Given the description of an element on the screen output the (x, y) to click on. 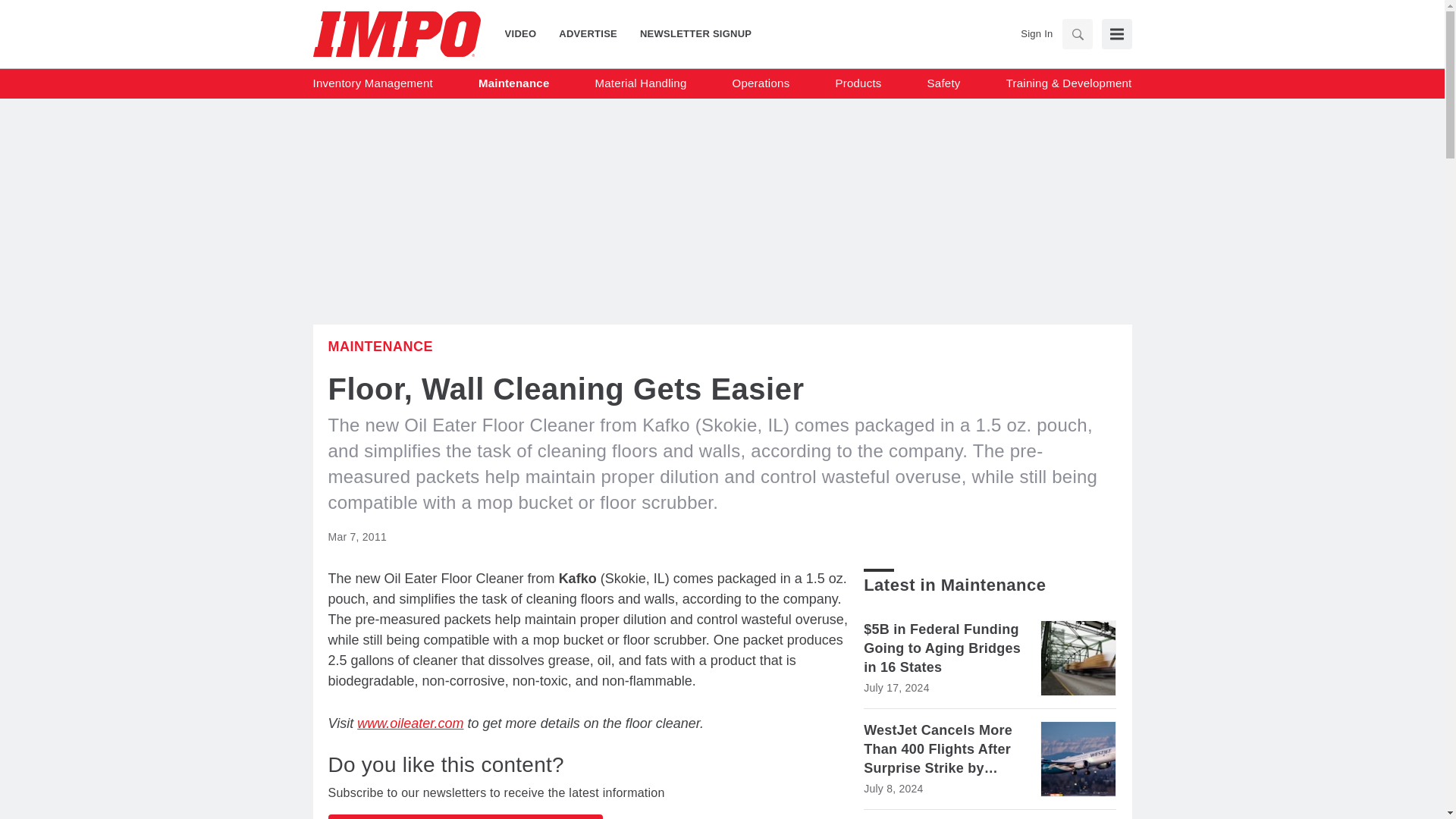
Maintenance (379, 346)
ADVERTISE (587, 33)
VIDEO (526, 33)
Inventory Management (372, 83)
Safety (943, 83)
Products (857, 83)
NEWSLETTER SIGNUP (689, 33)
Operations (761, 83)
Sign In (1036, 33)
Maintenance (514, 83)
Material Handling (641, 83)
